Given the description of an element on the screen output the (x, y) to click on. 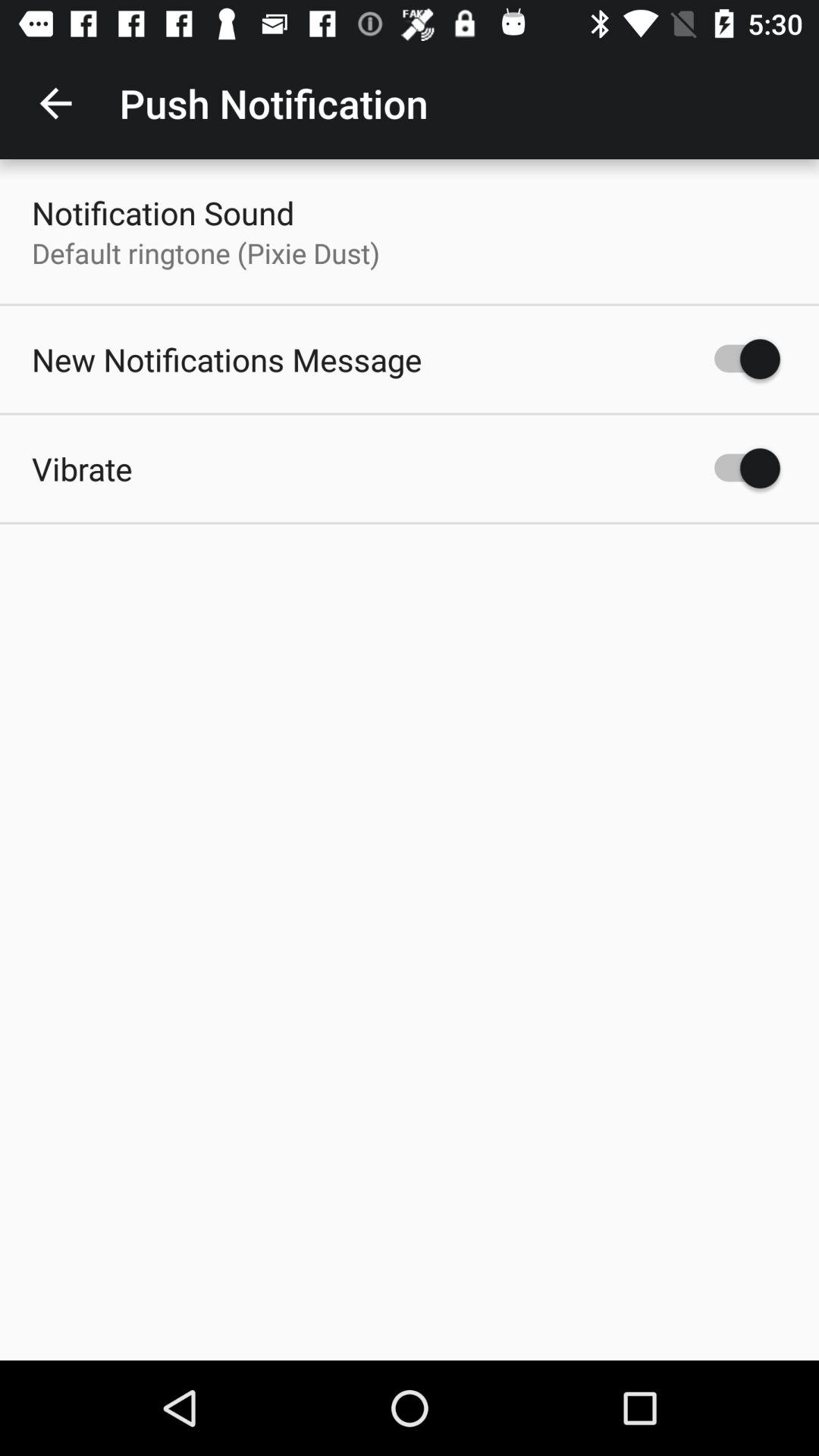
launch the default ringtone pixie (205, 252)
